Given the description of an element on the screen output the (x, y) to click on. 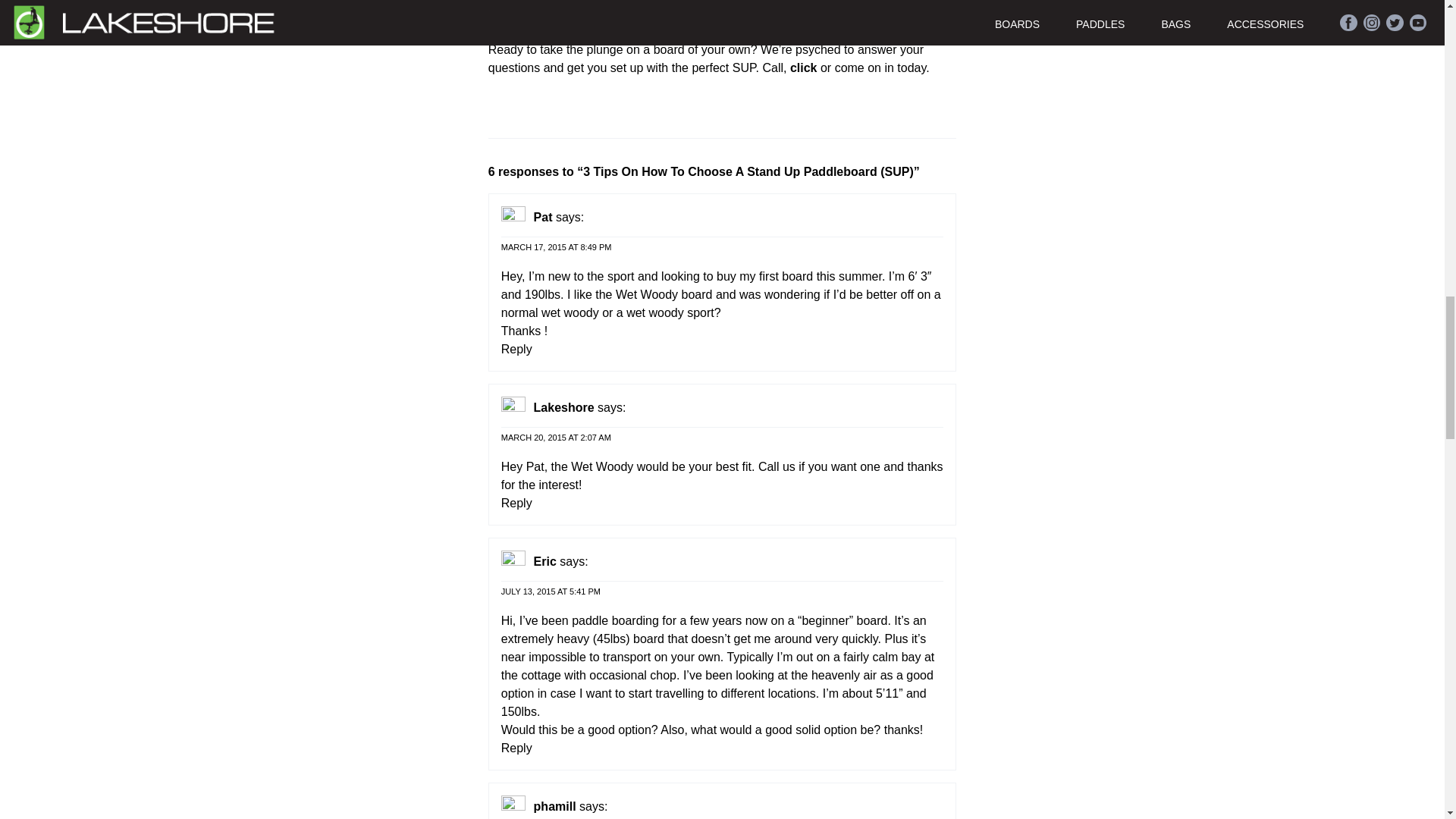
Reply (516, 748)
Reply (516, 349)
Reply (516, 502)
MARCH 17, 2015 AT 8:49 PM (555, 245)
click (803, 67)
JULY 13, 2015 AT 5:41 PM (549, 590)
Shop Online (803, 67)
MARCH 20, 2015 AT 2:07 AM (555, 436)
